Given the description of an element on the screen output the (x, y) to click on. 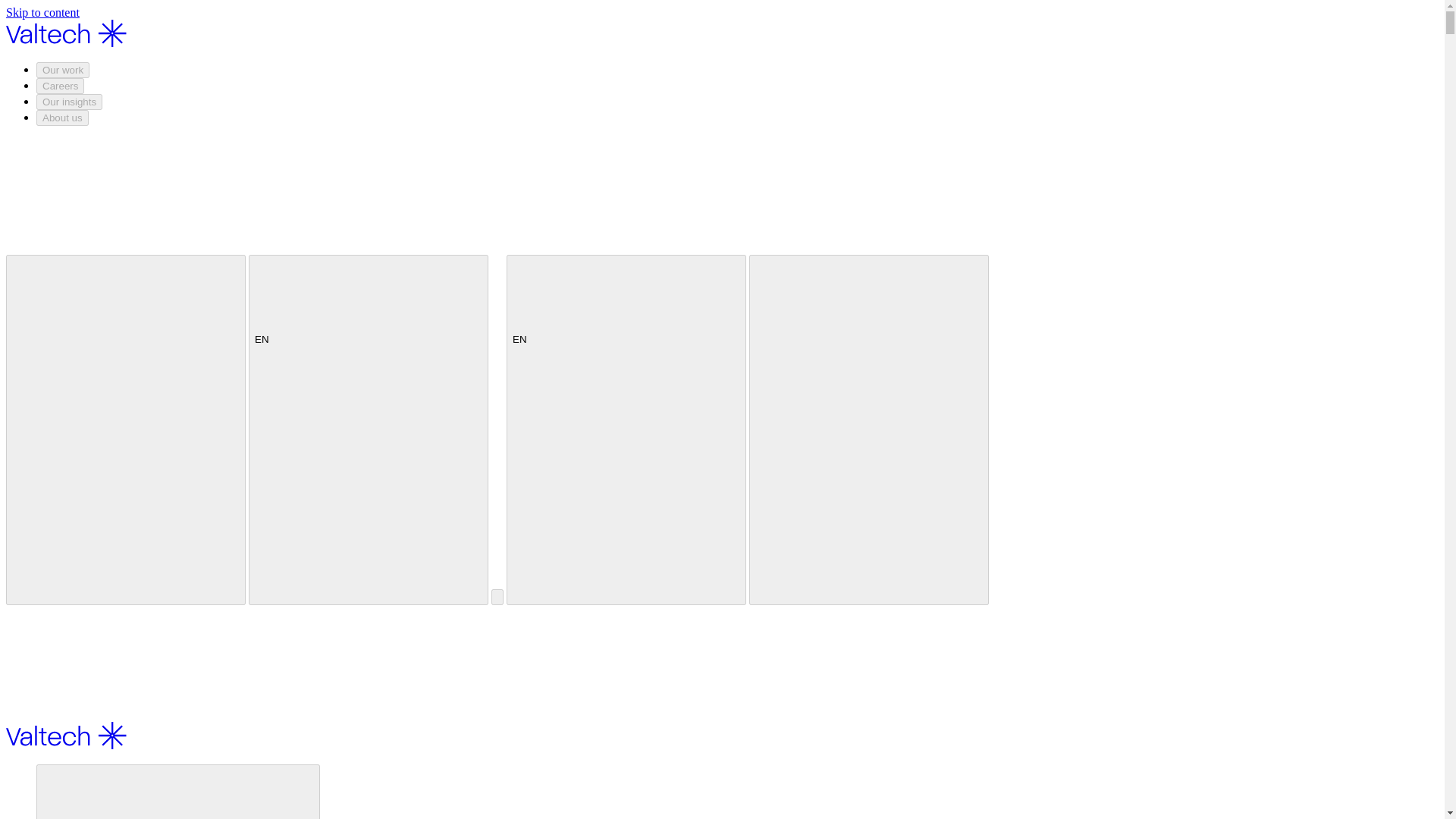
EN (625, 314)
Skip to content (42, 11)
EN (367, 429)
Our insights (68, 101)
EN (625, 429)
EN (367, 314)
Our work (62, 69)
Careers (60, 85)
About us (62, 117)
Our work (178, 791)
